Given the description of an element on the screen output the (x, y) to click on. 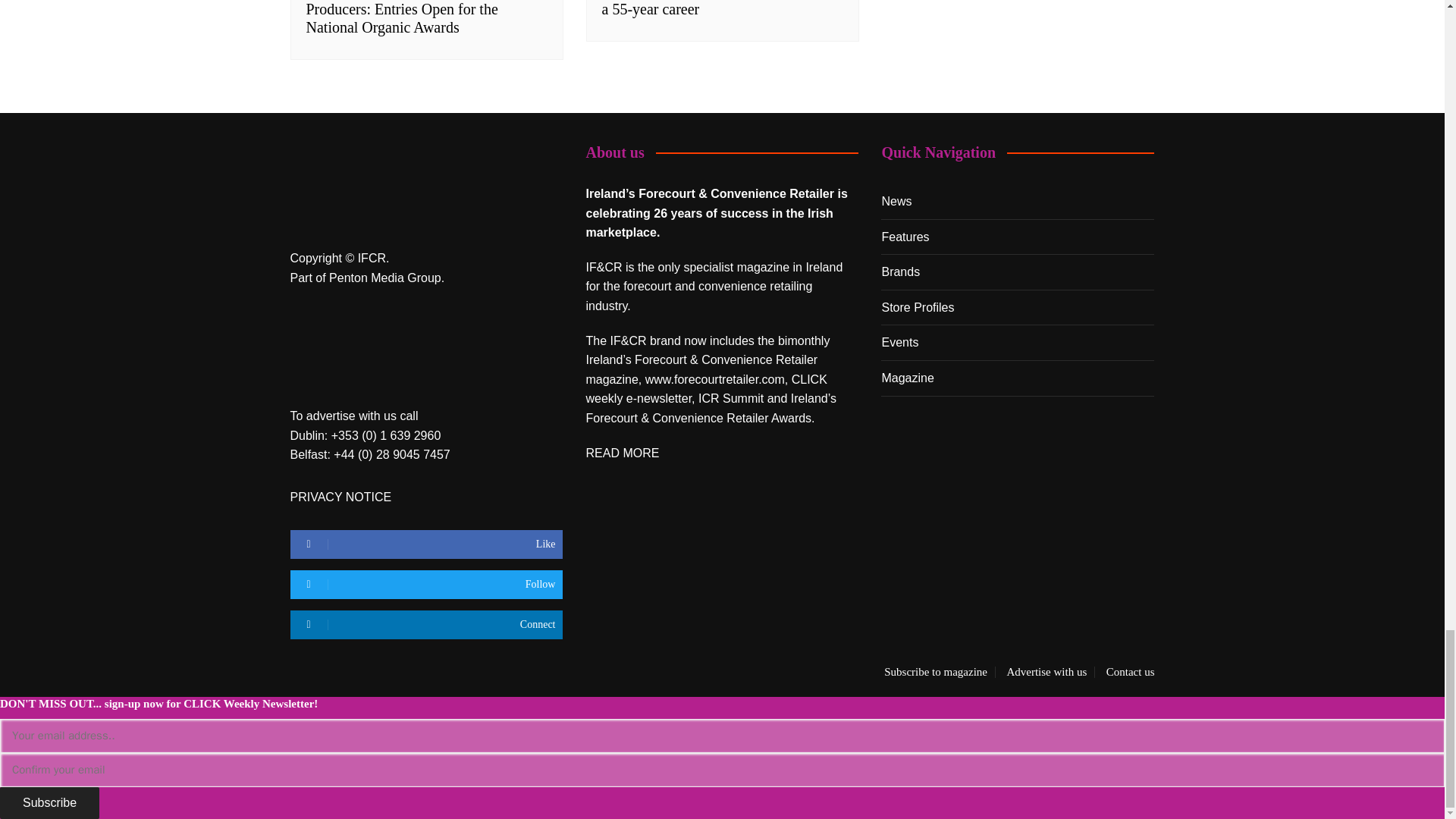
Penton Media Group Logo (365, 345)
